Given the description of an element on the screen output the (x, y) to click on. 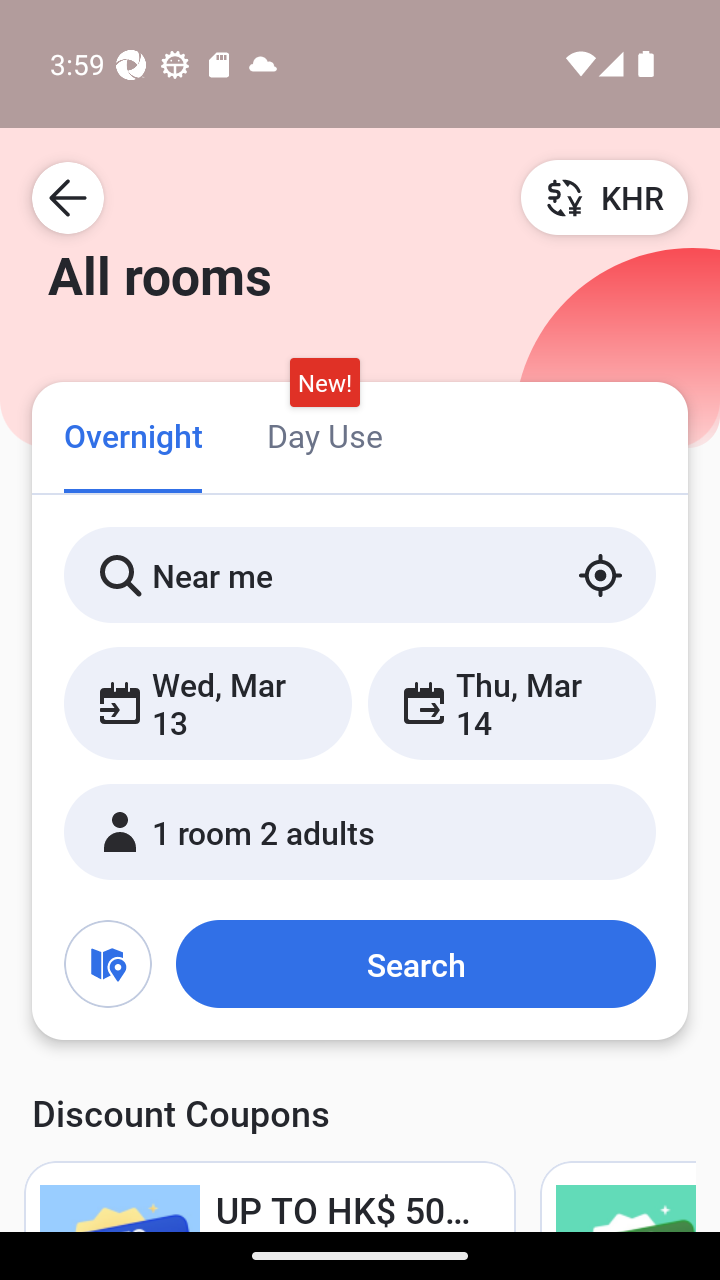
KHR (604, 197)
New! (324, 383)
Day Use (324, 434)
Near me (359, 575)
Wed, Mar 13 (208, 703)
Thu, Mar 14 (511, 703)
1 room 2 adults (359, 831)
Search (415, 964)
